Given the description of an element on the screen output the (x, y) to click on. 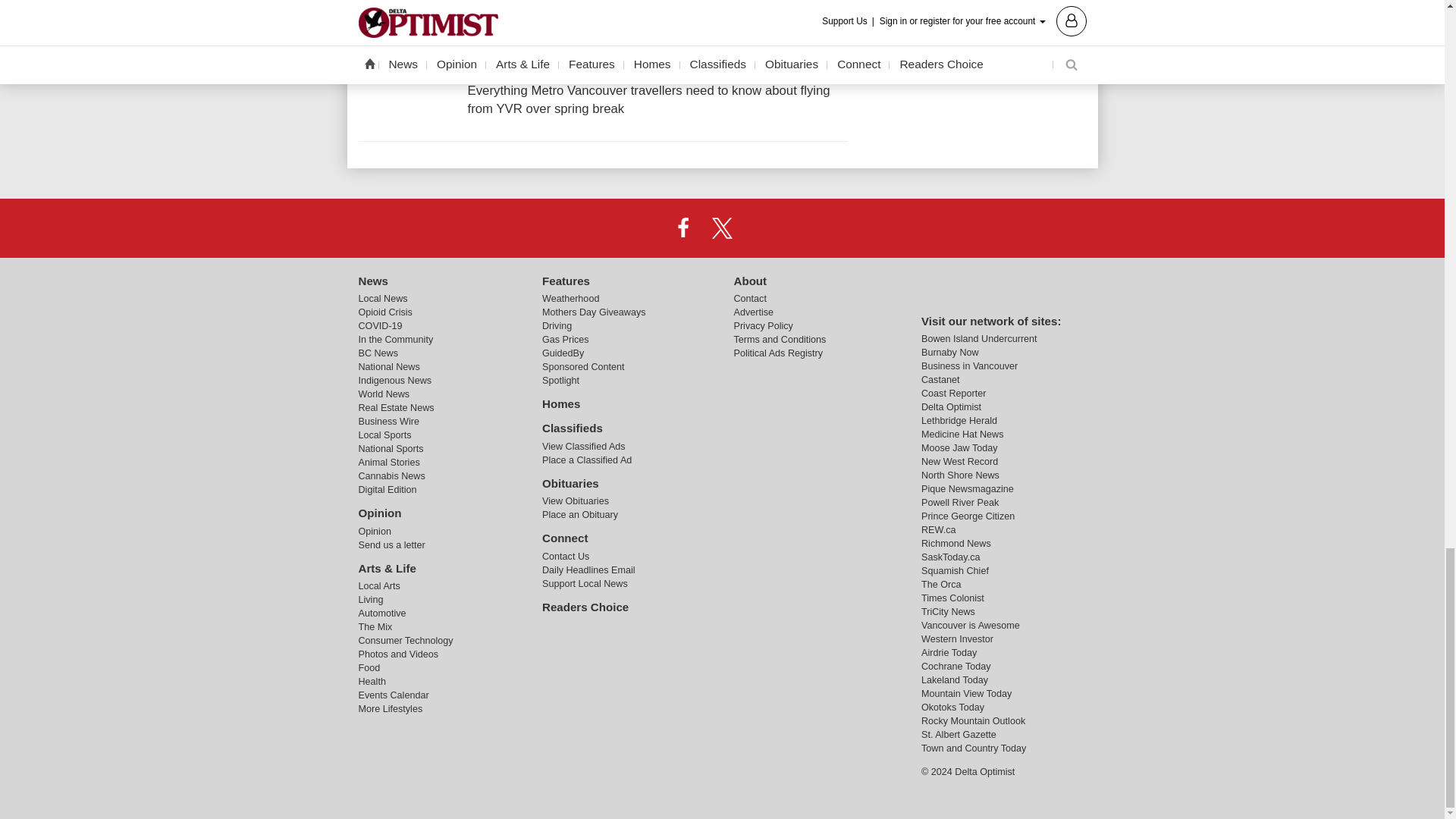
Facebook (683, 226)
X (721, 226)
Instagram (760, 226)
